Given the description of an element on the screen output the (x, y) to click on. 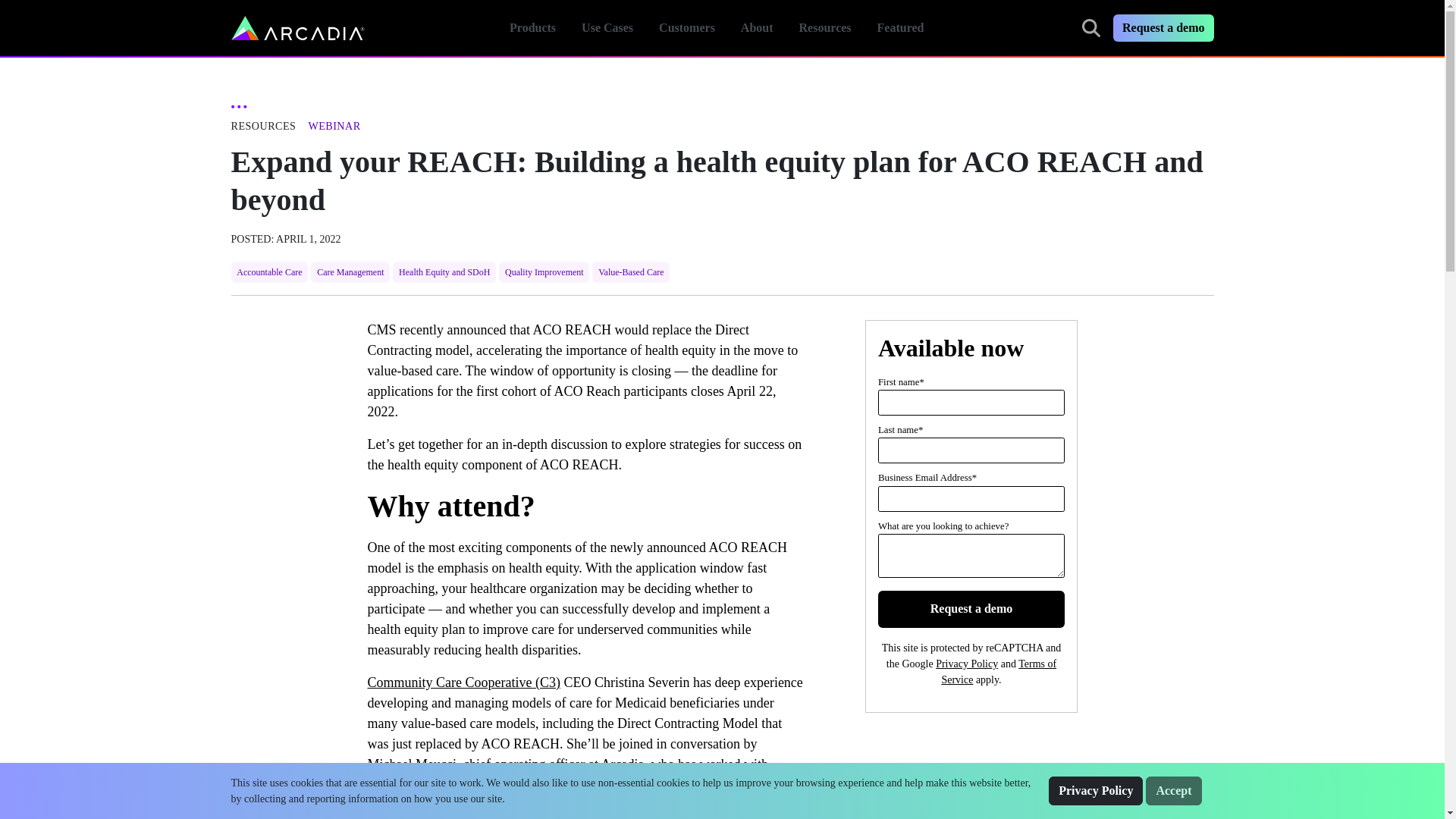
Customers (687, 27)
Accept (1173, 790)
Privacy Policy (1095, 790)
Resources (825, 27)
Request a demo (970, 609)
Open search (1090, 27)
Home (297, 27)
About (738, 28)
Use Cases (757, 27)
